Given the description of an element on the screen output the (x, y) to click on. 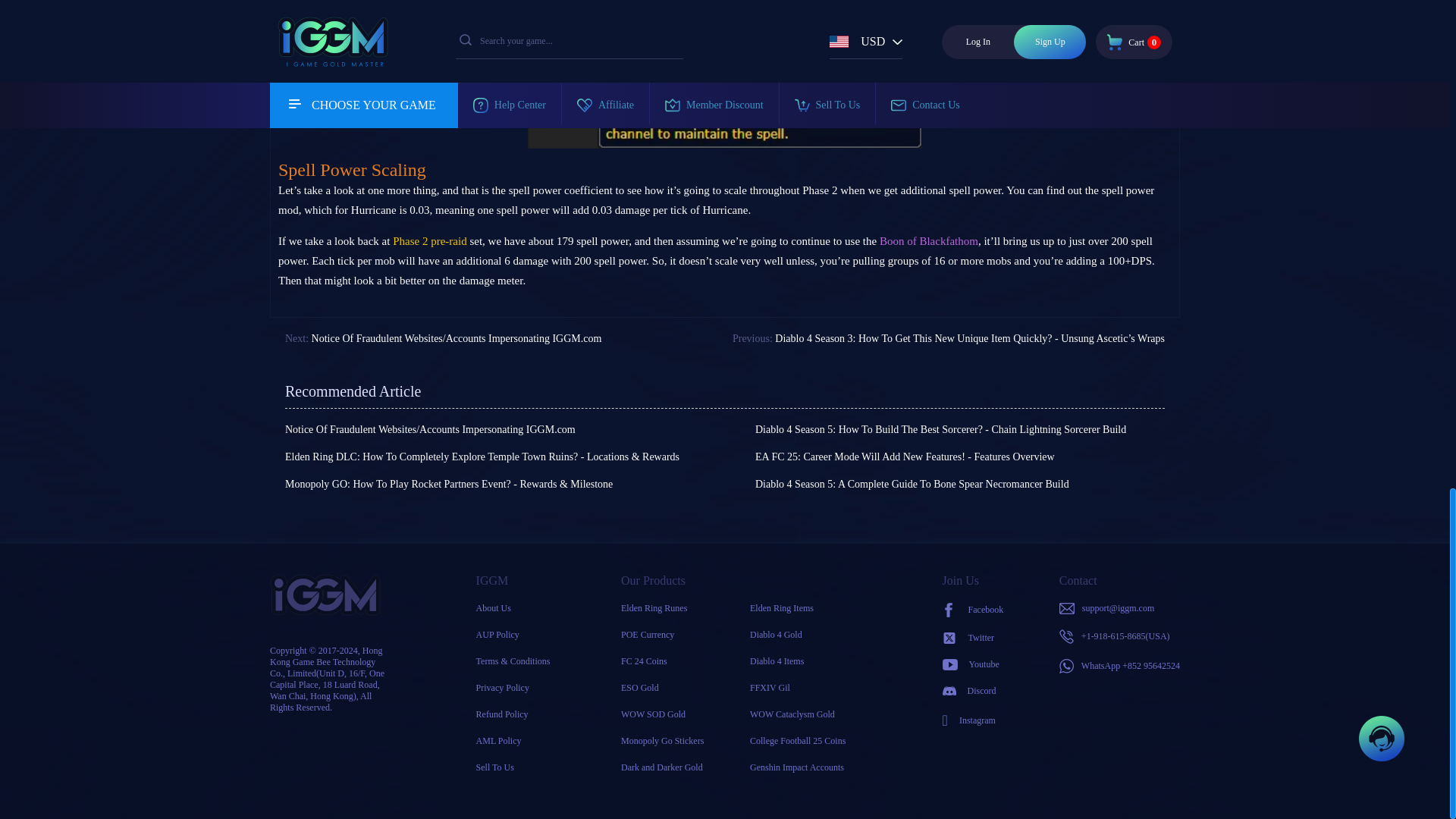
youtube (973, 664)
WOW Classic SOD Hurricane (724, 74)
Instagram (973, 720)
discord (973, 690)
facebook (973, 609)
twitter (973, 637)
